Given the description of an element on the screen output the (x, y) to click on. 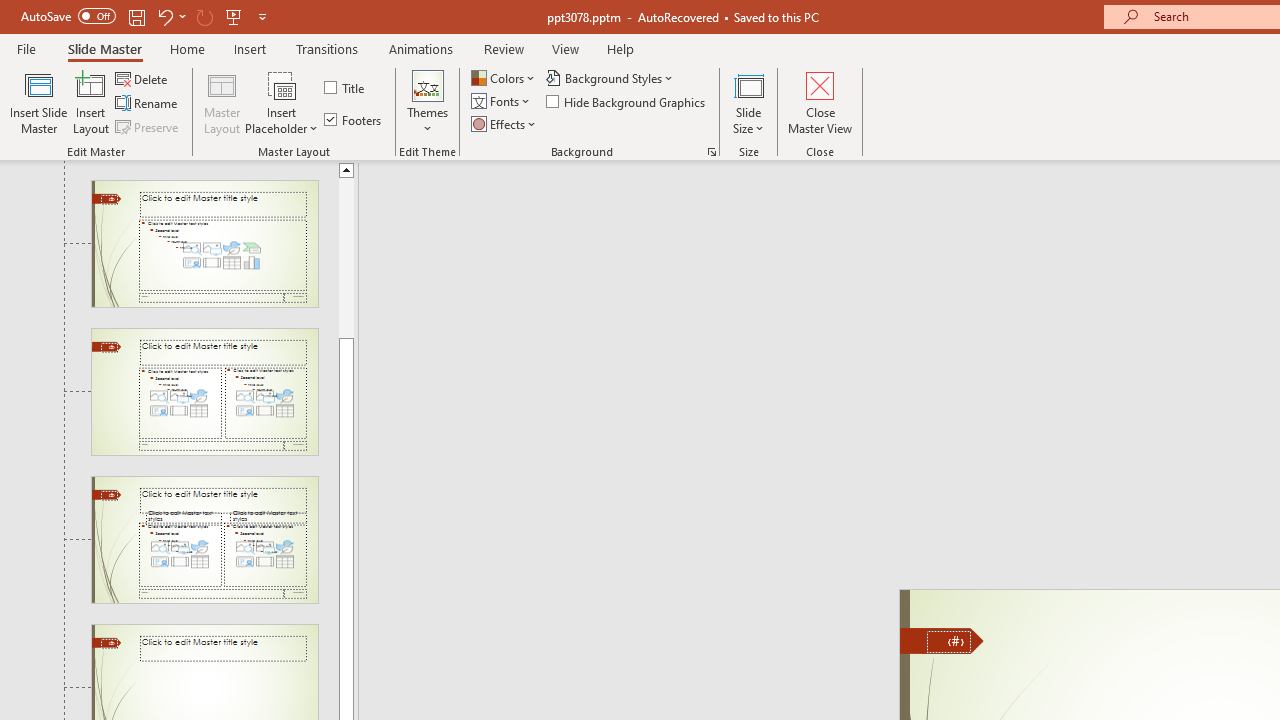
Content (282, 84)
